Given the description of an element on the screen output the (x, y) to click on. 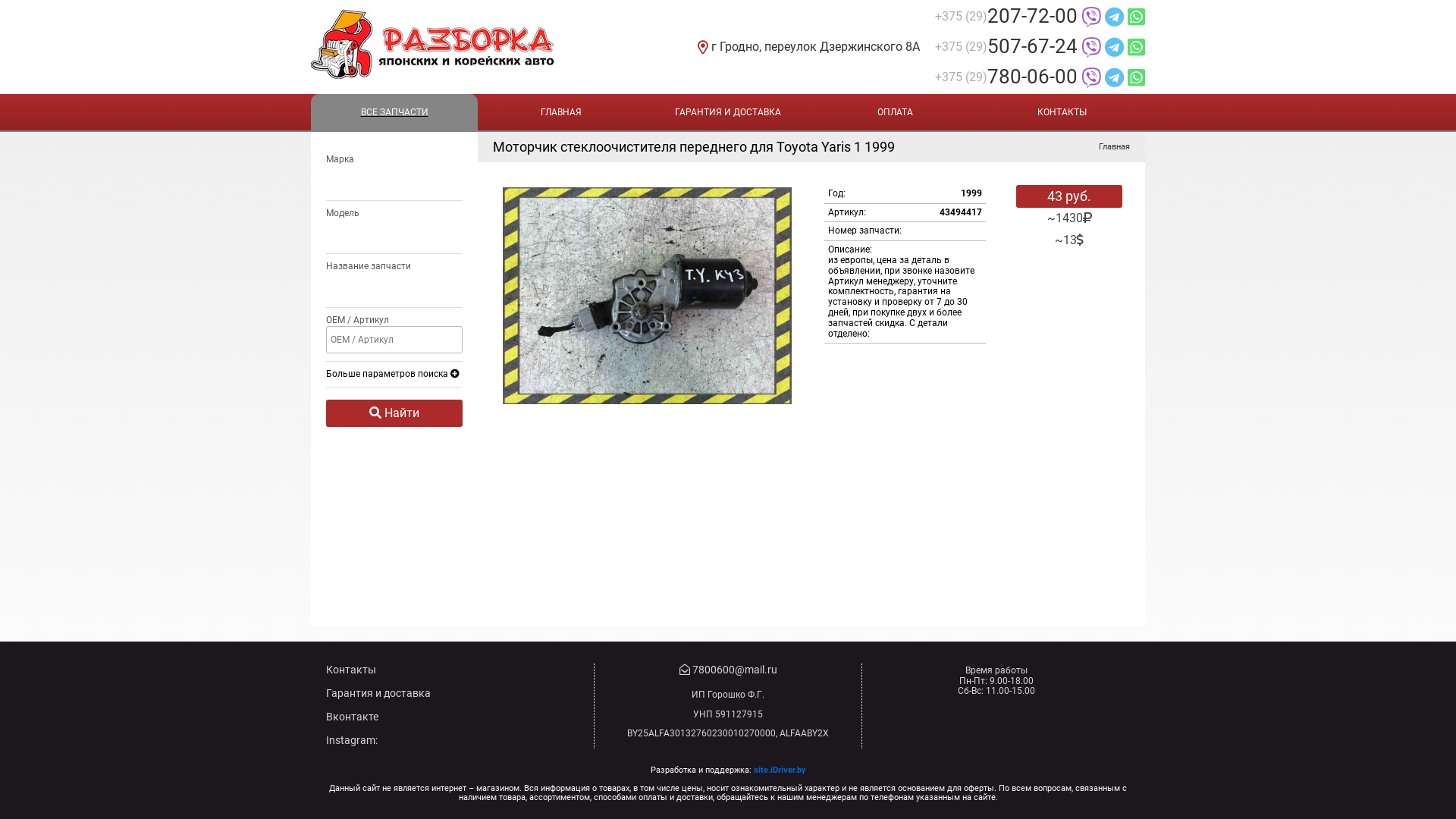
 7800600@mail.ru Element type: text (728, 669)
site.iDriver.by Element type: text (779, 770)
+375 (29)
207-72-00 Element type: text (1040, 16)
+375 (29)
507-67-24 Element type: text (1040, 46)
+375 (29)
780-06-00 Element type: text (1040, 77)
Instagram: Element type: text (351, 740)
